Given the description of an element on the screen output the (x, y) to click on. 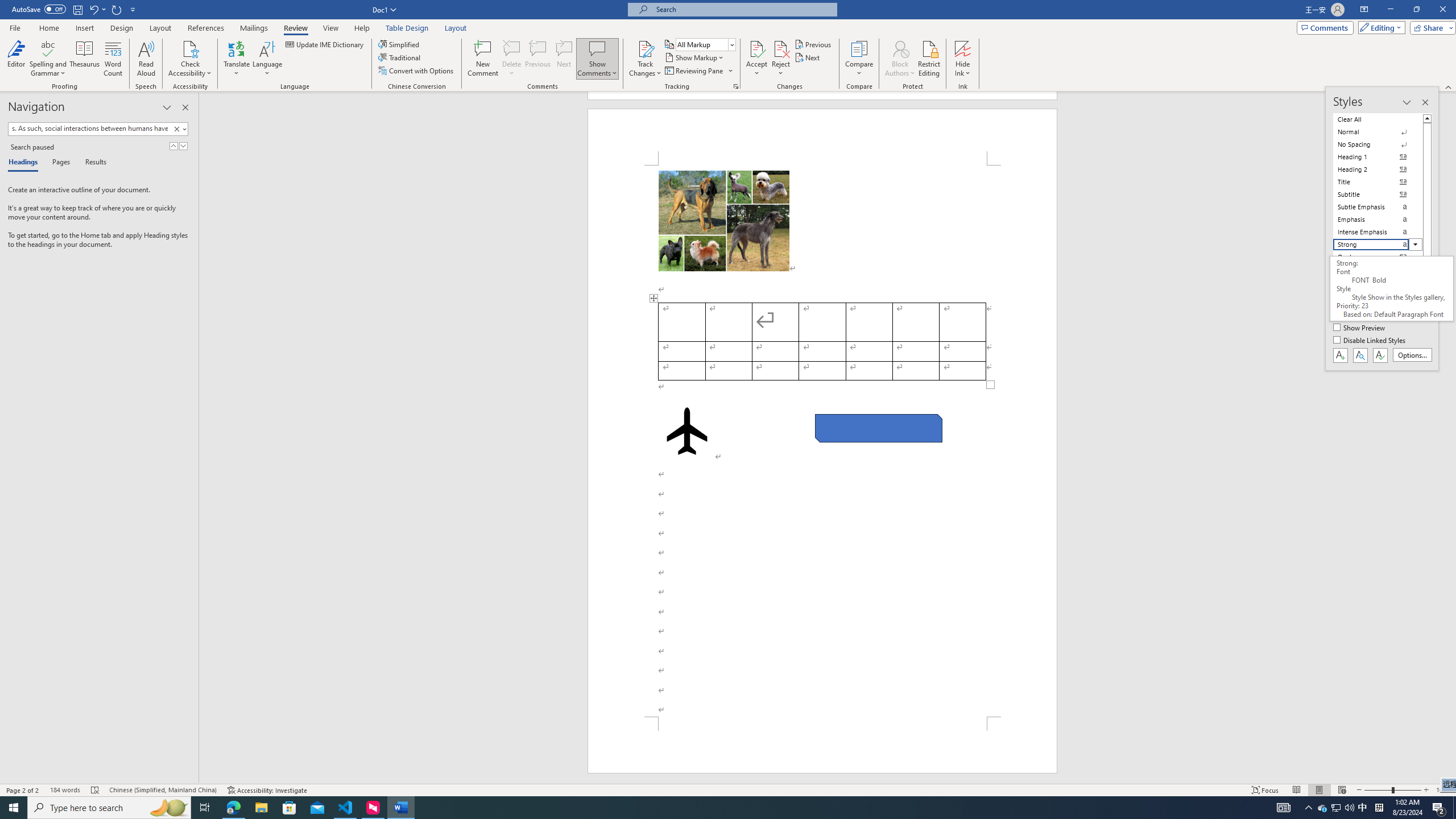
Rectangle: Diagonal Corners Snipped 2 (878, 428)
Clear (178, 128)
Next Result (183, 145)
Show Comments (597, 58)
Heading 1 (1377, 156)
Accept and Move to Next (756, 48)
Disable Linked Styles (1370, 340)
Emphasis (1377, 219)
Book Title (1377, 306)
